Given the description of an element on the screen output the (x, y) to click on. 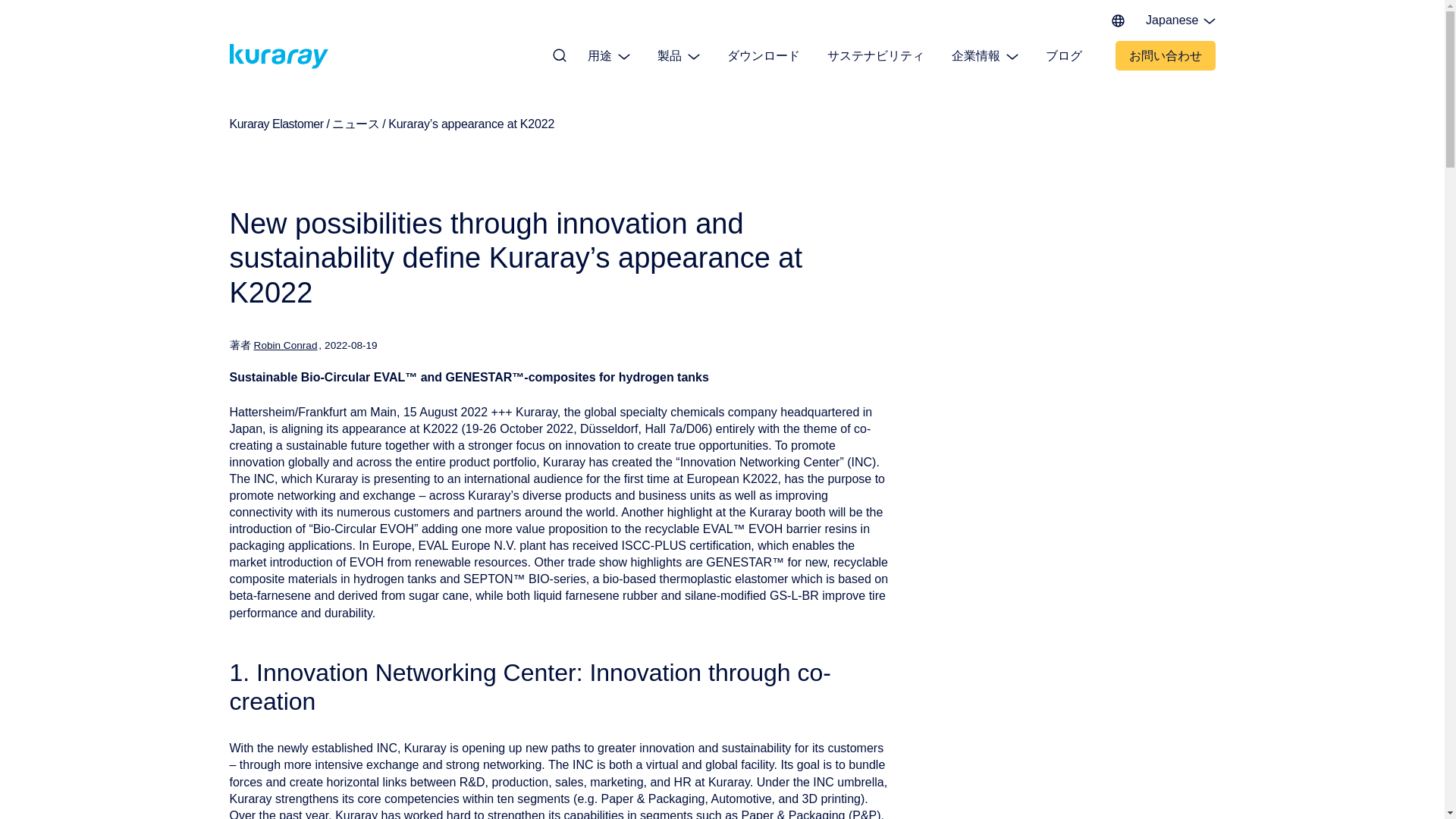
Chinese (1164, 105)
Spanish (1164, 83)
Japanese (1164, 20)
Spanish (1164, 83)
Japanese (1164, 20)
Chinese (1164, 105)
